Given the description of an element on the screen output the (x, y) to click on. 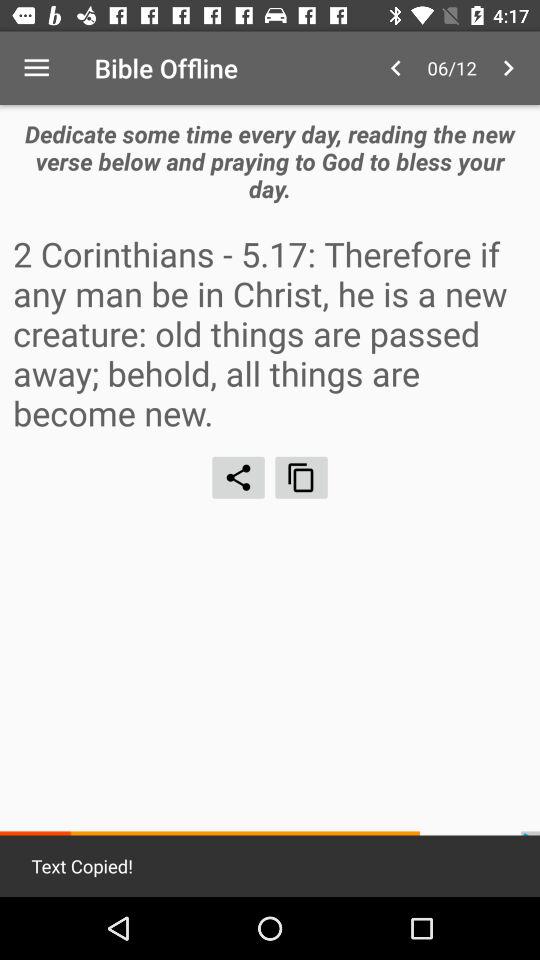
share content (238, 477)
